Given the description of an element on the screen output the (x, y) to click on. 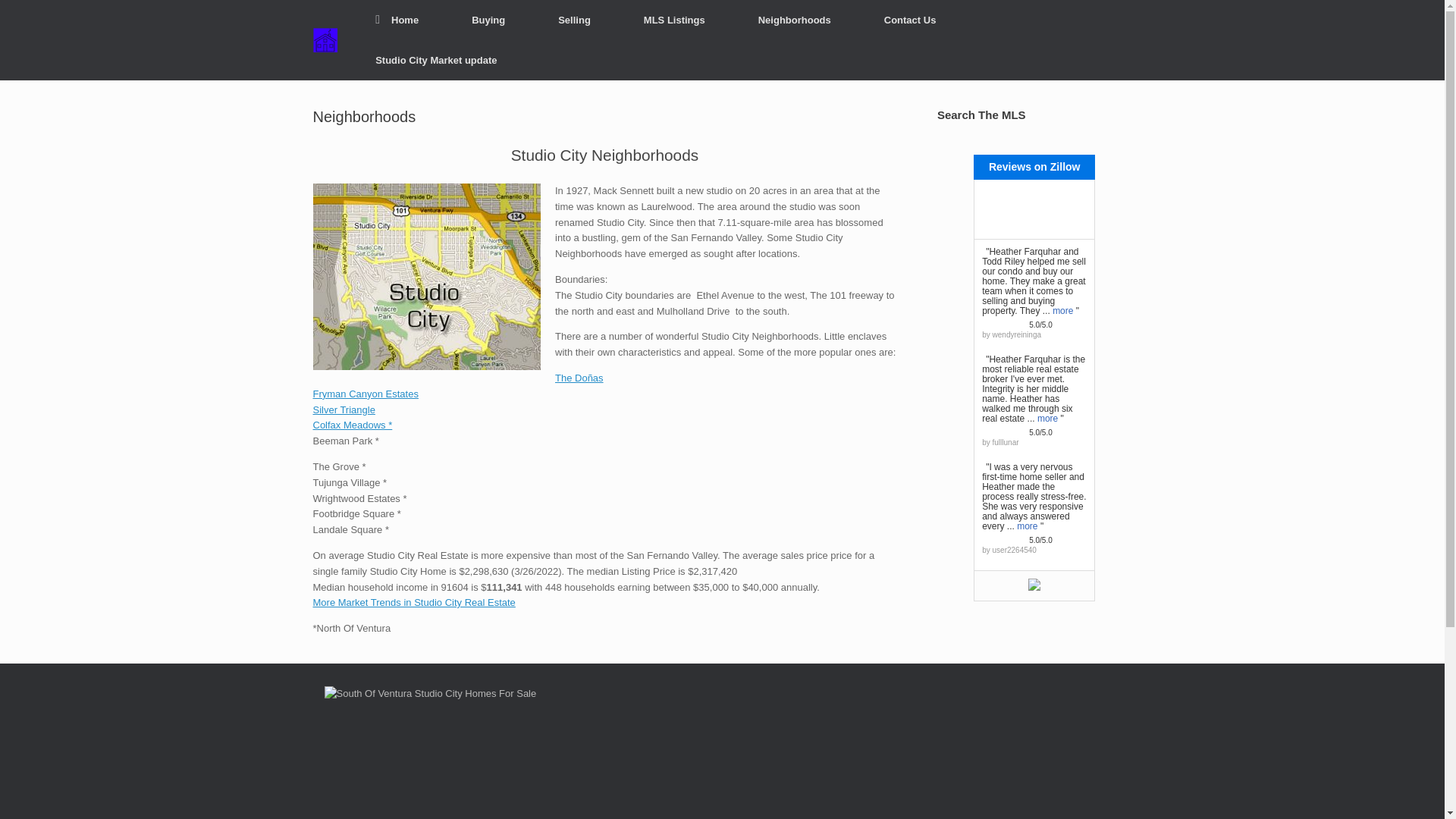
Buying (488, 20)
more (1062, 309)
more (1026, 525)
Studio City Market update (435, 60)
Contact Us (909, 20)
Selling (574, 20)
Home (397, 20)
Silver Triangle (343, 409)
Neighborhoods (794, 20)
MLS Listings (674, 20)
Fryman Canyon Estates (365, 393)
More Market Trends in Studio City Real Estate (414, 602)
more (1047, 417)
